Given the description of an element on the screen output the (x, y) to click on. 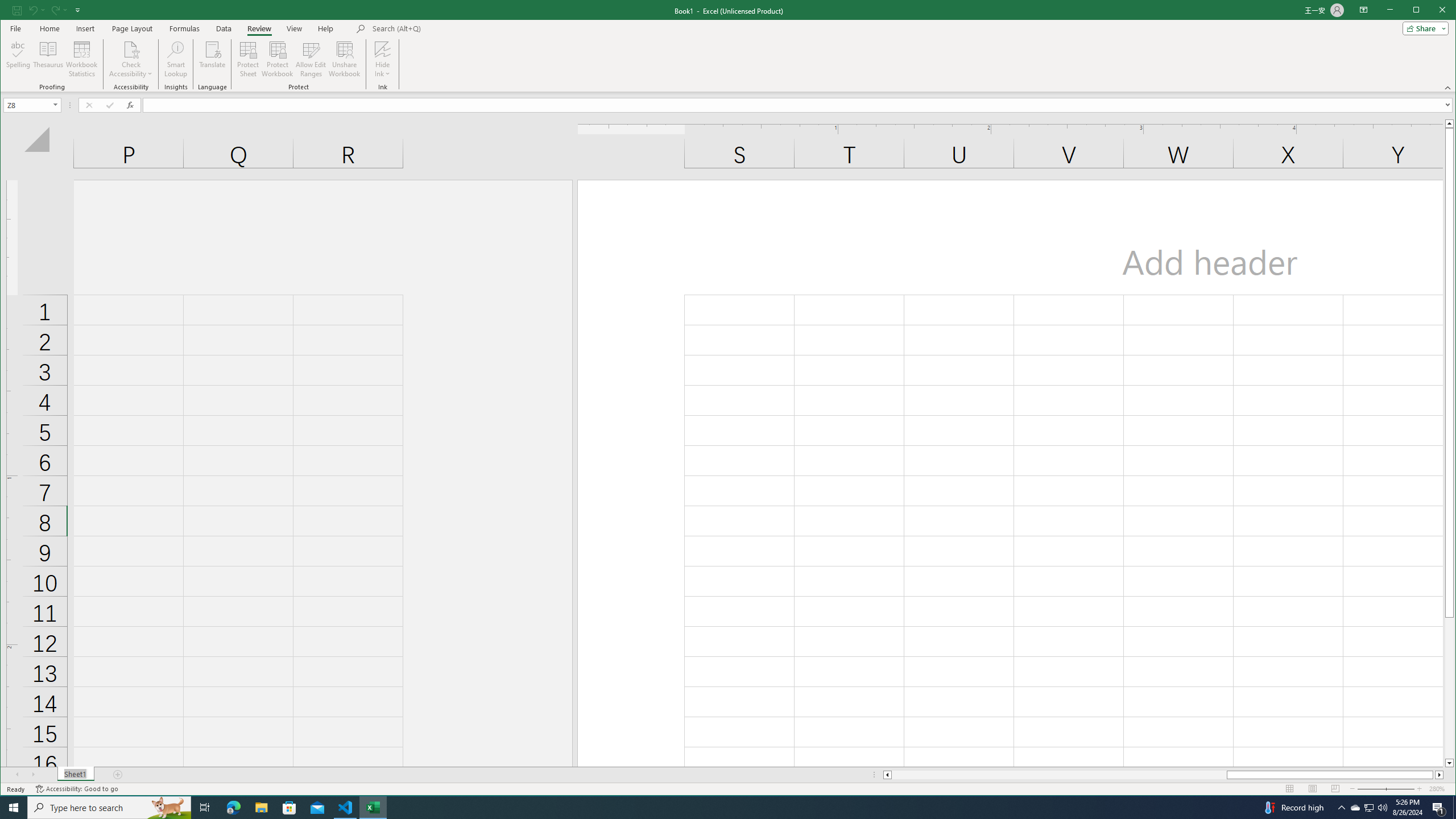
Excel - 1 running window (373, 807)
Allow Edit Ranges (310, 59)
Record high (1292, 807)
Workbook Statistics (82, 59)
Sheet Tab (75, 774)
